Given the description of an element on the screen output the (x, y) to click on. 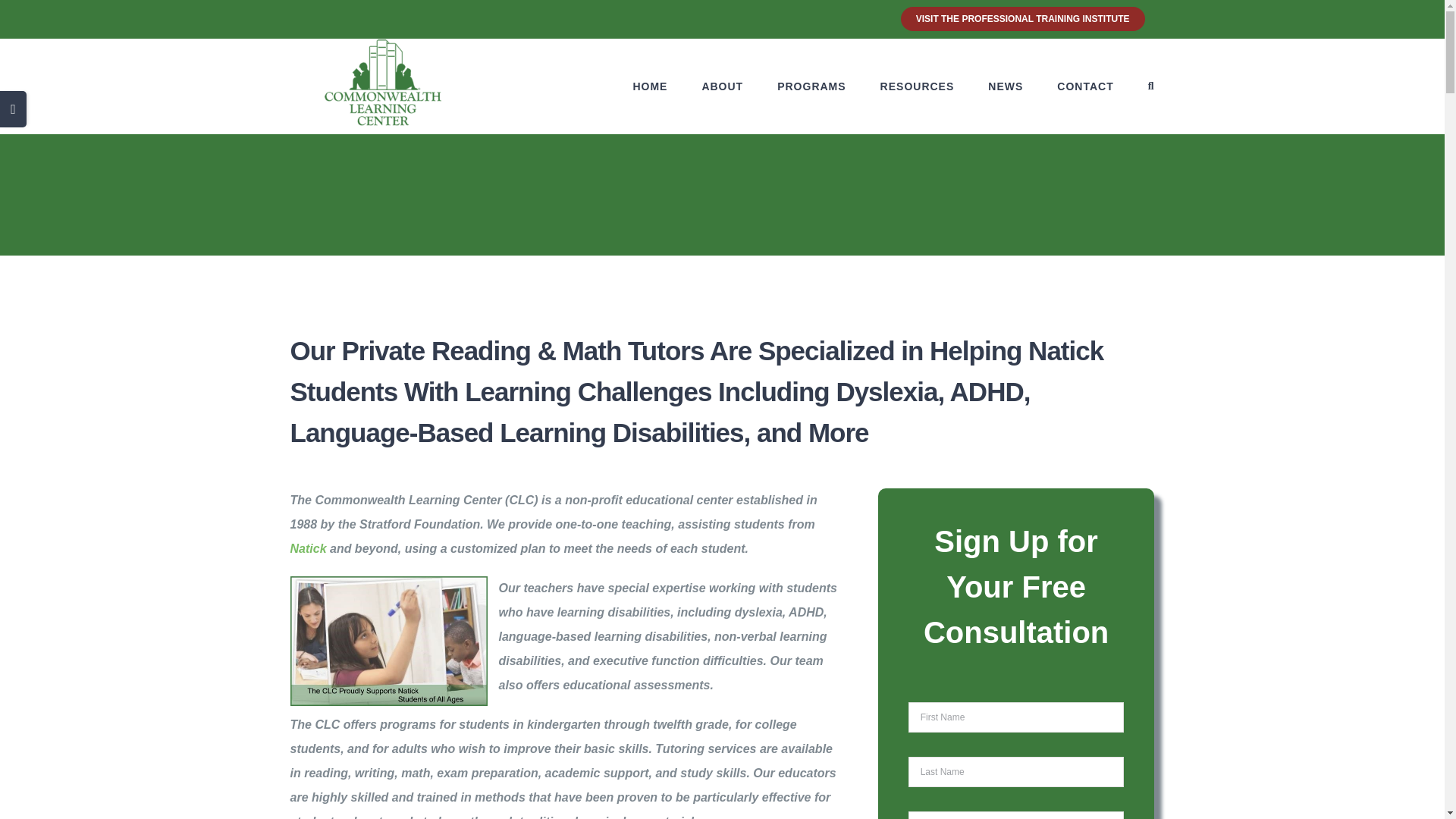
Visit the Professional Training Institute (1022, 18)
Natick (307, 548)
VISIT THE PROFESSIONAL TRAINING INSTITUTE (1022, 18)
